Given the description of an element on the screen output the (x, y) to click on. 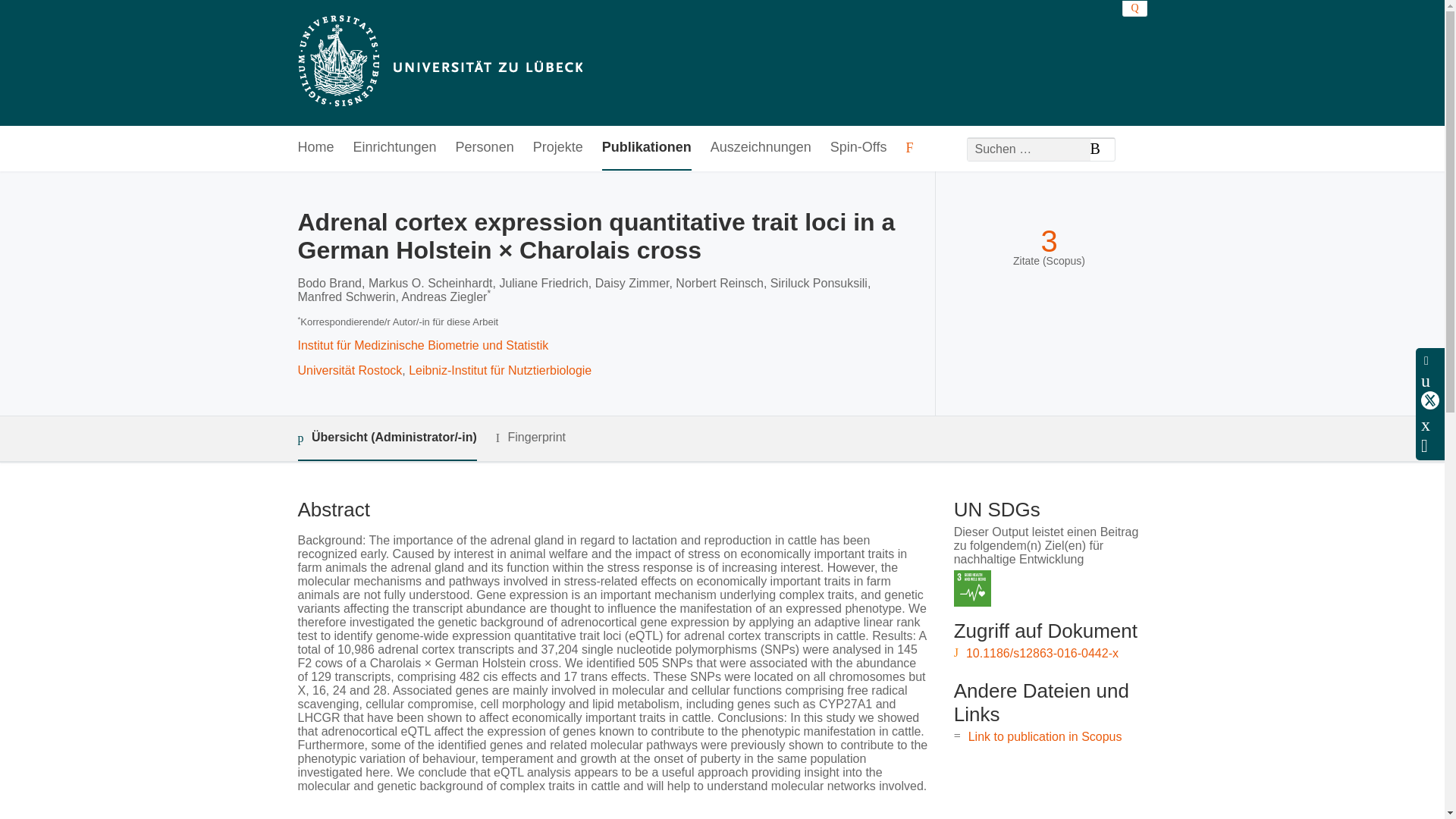
Personen (484, 148)
Publikationen (646, 148)
Spin-Offs (857, 148)
Link to publication in Scopus (1045, 736)
Fingerprint (531, 437)
Projekte (557, 148)
Einrichtungen (394, 148)
Auszeichnungen (760, 148)
